Given the description of an element on the screen output the (x, y) to click on. 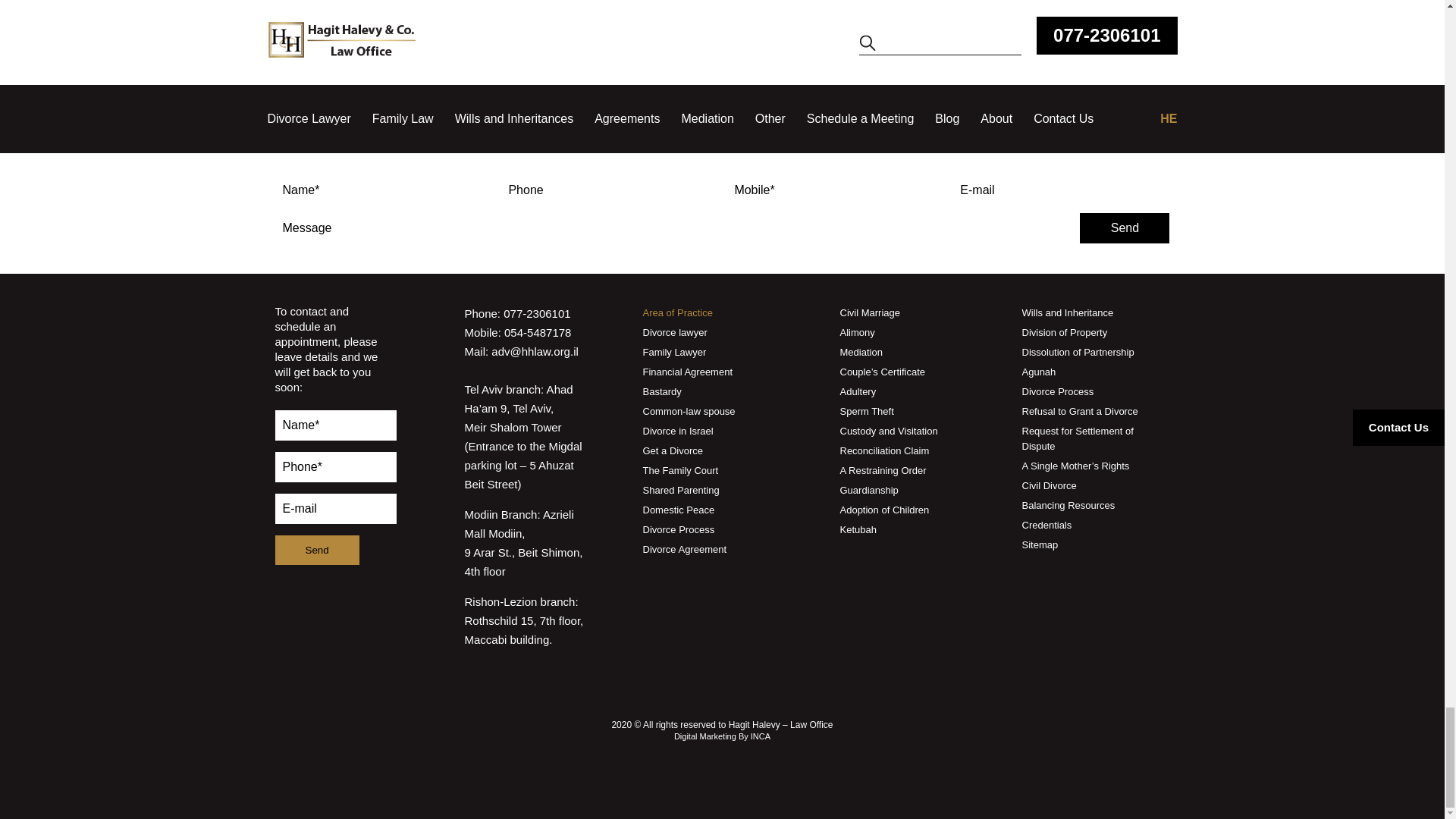
Send (316, 550)
Send (1124, 227)
